Given the description of an element on the screen output the (x, y) to click on. 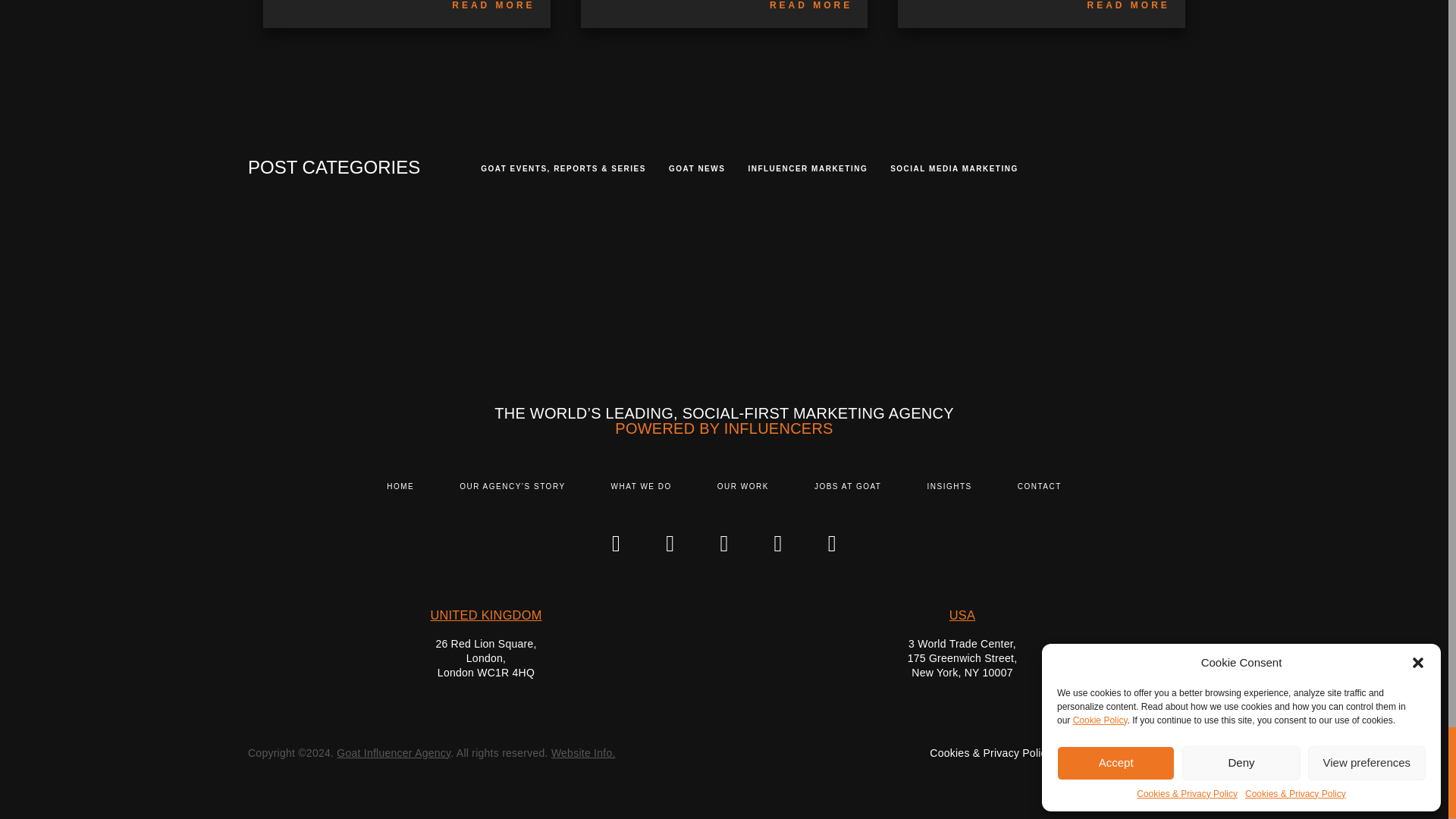
How to use Amazon Live as part of your influencer strategy (492, 5)
READ MORE (492, 5)
